Given the description of an element on the screen output the (x, y) to click on. 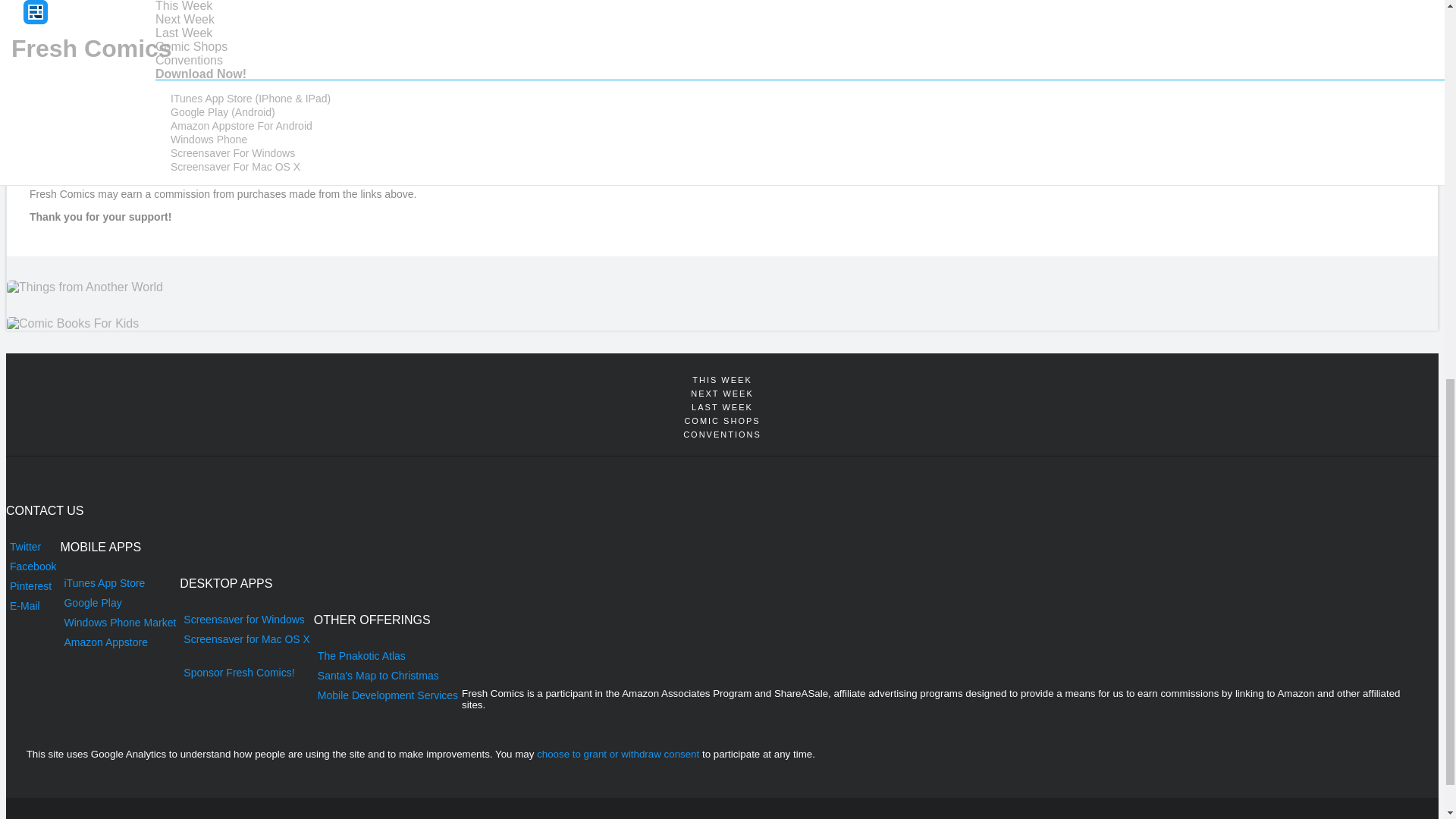
Pinterest (32, 586)
CONVENTIONS (721, 434)
J.M. DeMatteis (64, 30)
Screensaver for Mac OS X (246, 639)
Heath Corson (61, 42)
Windows Phone Market (119, 622)
NEXT WEEK (721, 393)
Patrick Olliffe (60, 101)
E-Mail (32, 605)
COMIC SHOPS (722, 420)
Google Play (119, 602)
Thomas Palmer (66, 89)
iTunes App Store (119, 582)
Amazon Appstore (119, 641)
THIS WEEK (722, 379)
